Given the description of an element on the screen output the (x, y) to click on. 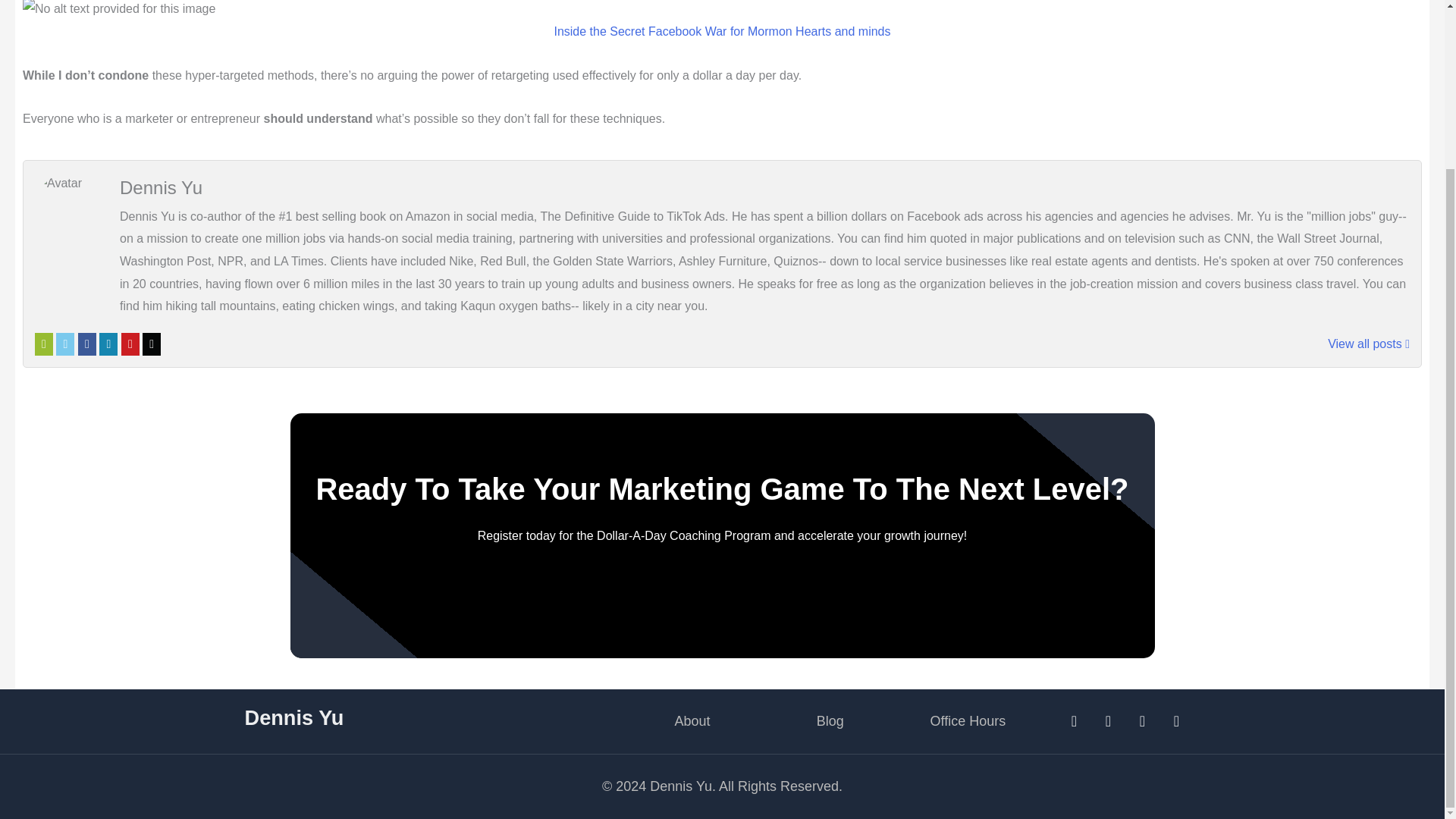
About (692, 721)
Dennis Yu (293, 717)
Office Hours (968, 721)
Inside the Secret Facebook War for Mormon Hearts and minds (721, 31)
Blog (830, 721)
View all posts (1368, 343)
